Given the description of an element on the screen output the (x, y) to click on. 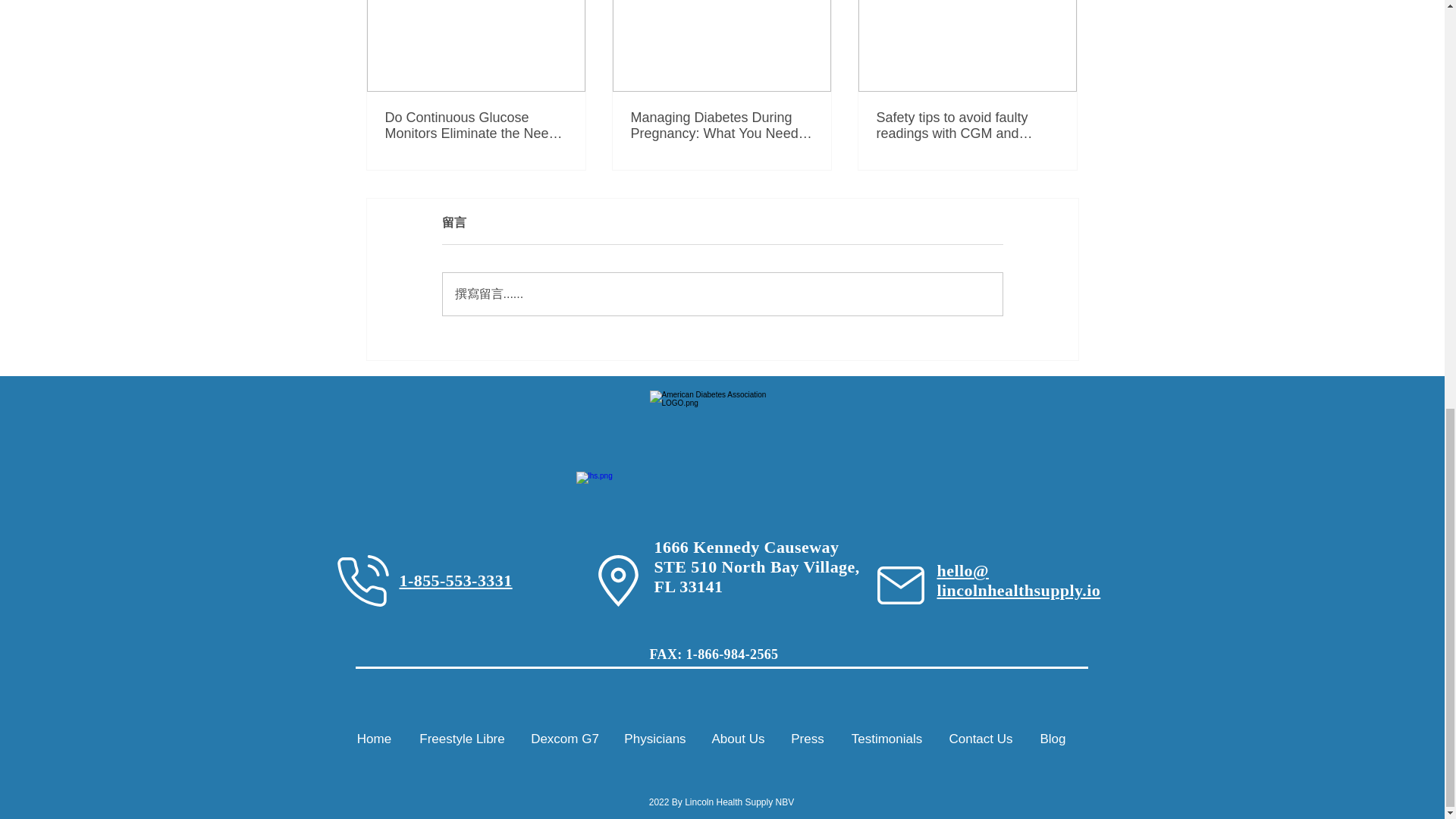
Dexcom G7 (564, 739)
About Us (737, 739)
1-855-553-3331 (455, 579)
Press (807, 739)
Freestyle Libre (462, 739)
Physicians (654, 739)
Home (374, 739)
Managing Diabetes During Pregnancy: What You Need to Know? (721, 125)
